Given the description of an element on the screen output the (x, y) to click on. 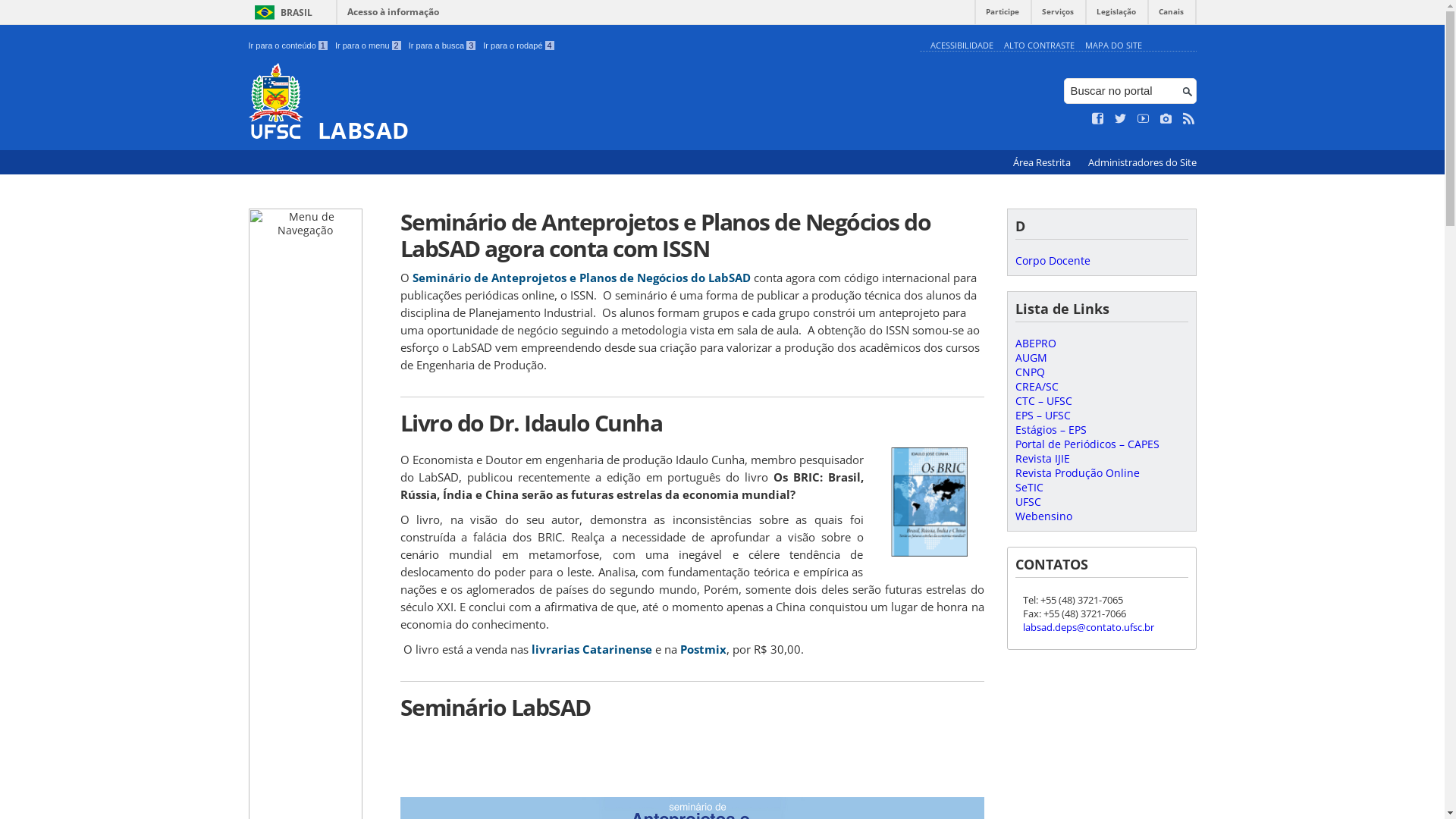
UFSC Element type: text (1027, 501)
Curta no Facebook Element type: hover (1098, 118)
AUGM Element type: text (1030, 357)
ACESSIBILIDADE Element type: text (960, 44)
Postmix Element type: text (702, 648)
Participe Element type: text (1002, 15)
CREA/SC Element type: text (1035, 386)
BRASIL Element type: text (280, 12)
labsad.deps@contato.ufsc.br Element type: text (1087, 626)
Canais Element type: text (1171, 15)
SeTIC Element type: text (1028, 487)
ALTO CONTRASTE Element type: text (1039, 44)
Ir para o menu 2 Element type: text (368, 45)
Administradores do Site Element type: text (1141, 162)
LABSAD Element type: text (580, 102)
Webensino Element type: text (1042, 515)
MAPA DO SITE Element type: text (1112, 44)
Corpo Docente Element type: text (1051, 260)
Ir para a busca 3 Element type: text (442, 45)
livrarias Catarinense Element type: text (590, 648)
CNPQ Element type: text (1029, 371)
Veja no Instagram Element type: hover (1166, 118)
2014-livro-os-bric-228x228 Element type: hover (929, 501)
Siga no Twitter Element type: hover (1120, 118)
ABEPRO Element type: text (1034, 342)
Revista IJIE Element type: text (1041, 458)
Livro do Dr. Idaulo Cunha Element type: text (692, 422)
